Given the description of an element on the screen output the (x, y) to click on. 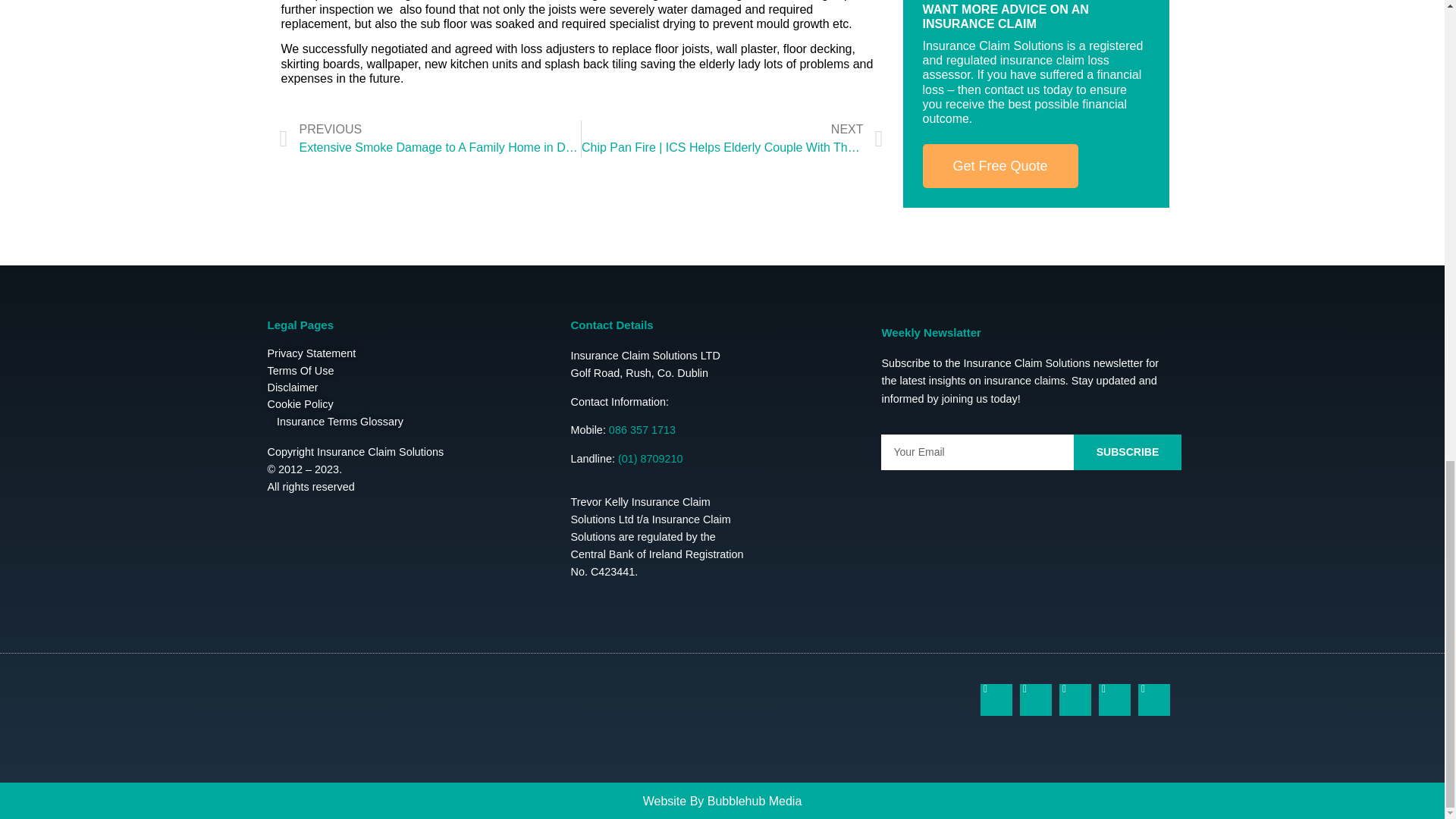
01 8709210 (649, 458)
